Given the description of an element on the screen output the (x, y) to click on. 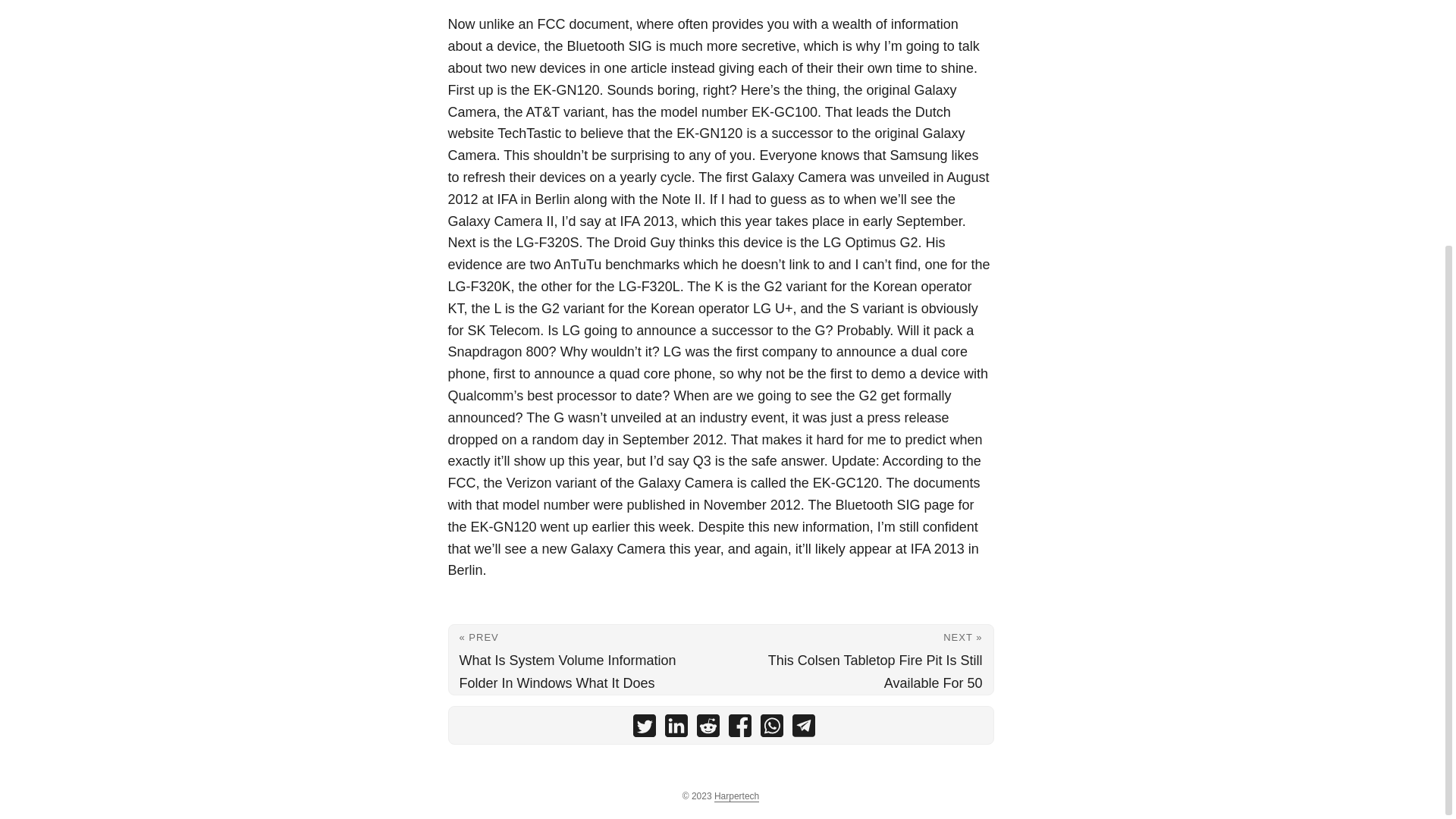
Harpertech (736, 796)
